Given the description of an element on the screen output the (x, y) to click on. 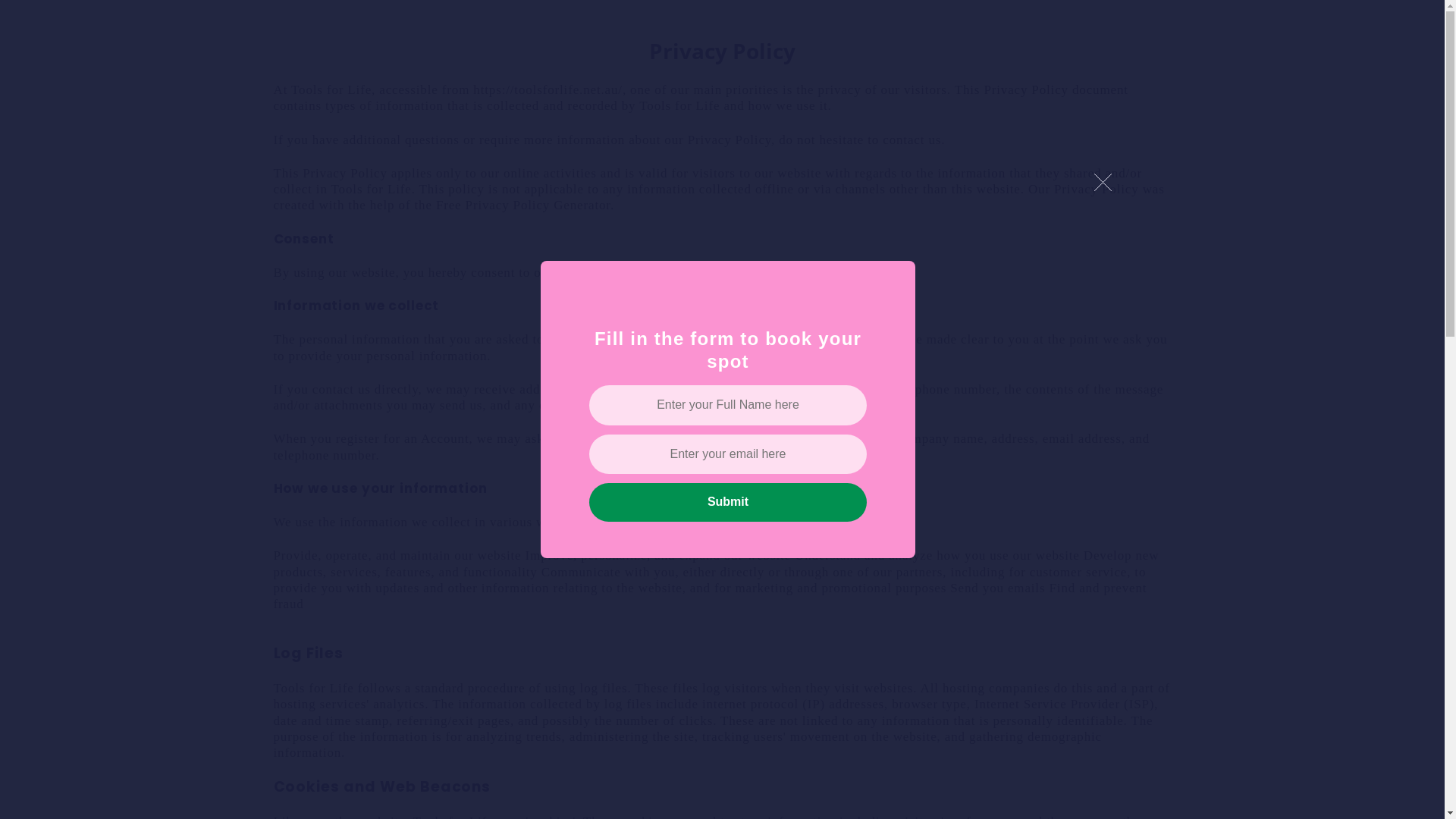
Submit Element type: text (727, 501)
e-remove Element type: text (1102, 183)
